Given the description of an element on the screen output the (x, y) to click on. 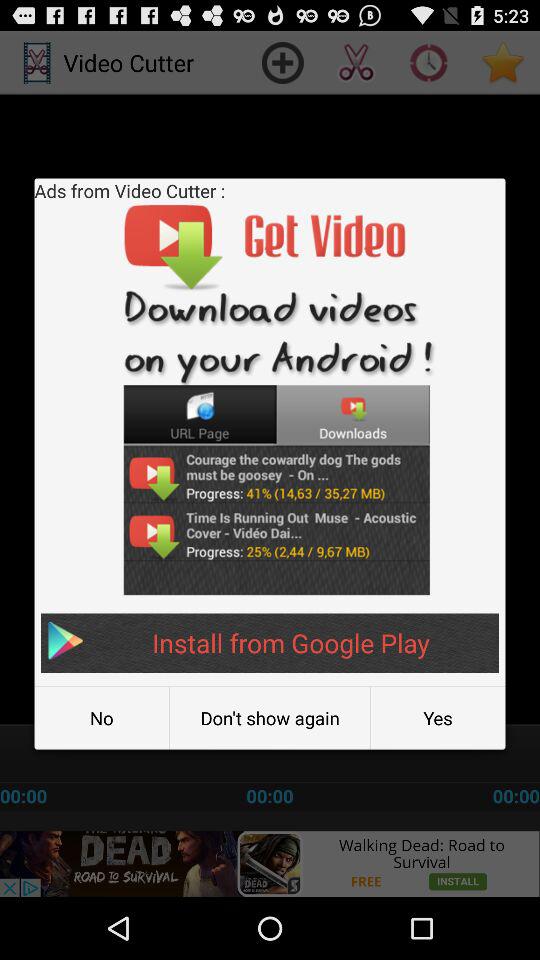
flip until the don t show (269, 717)
